Given the description of an element on the screen output the (x, y) to click on. 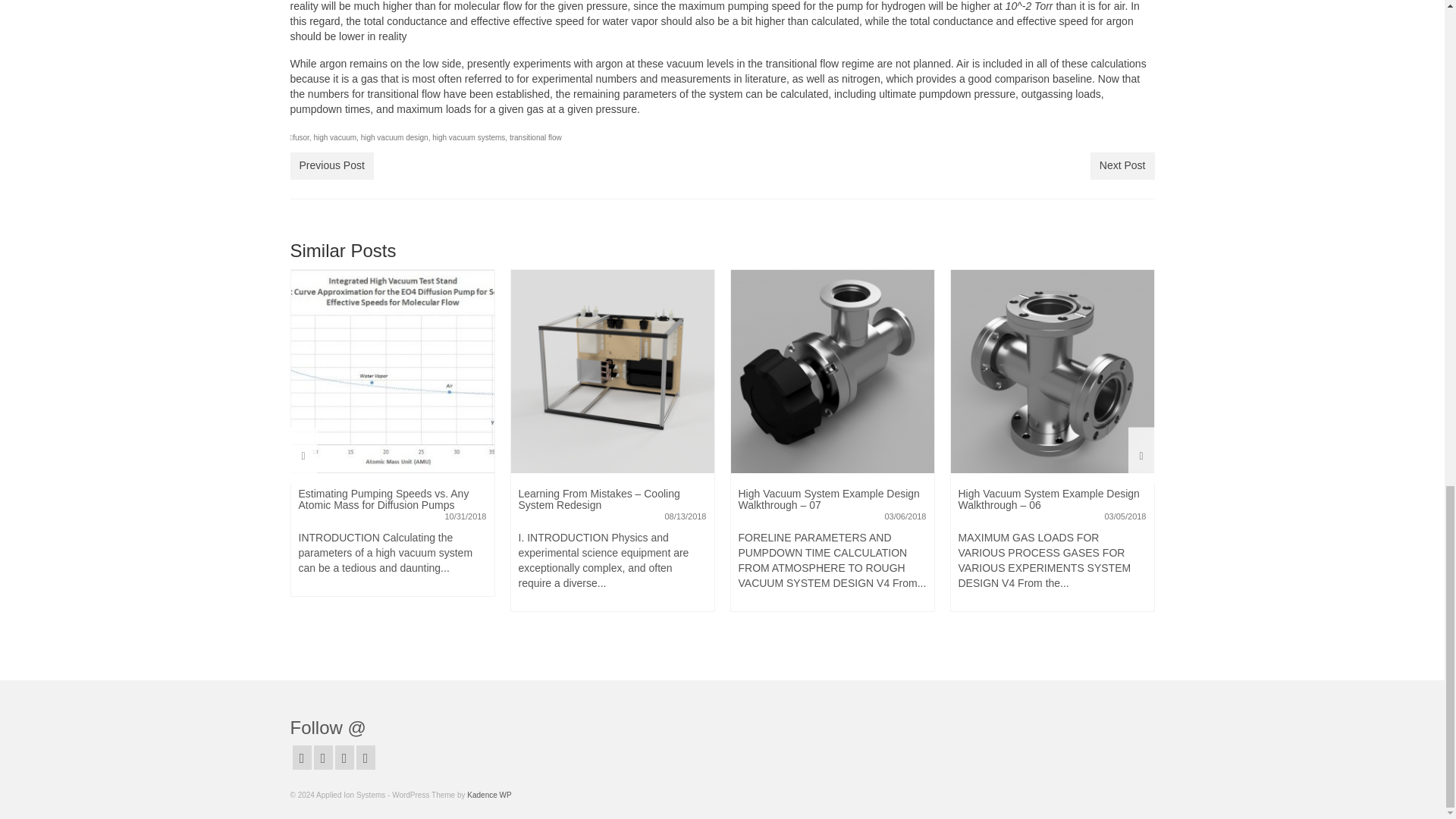
high vacuum design (394, 137)
high vacuum (334, 137)
fusor (300, 137)
